Given the description of an element on the screen output the (x, y) to click on. 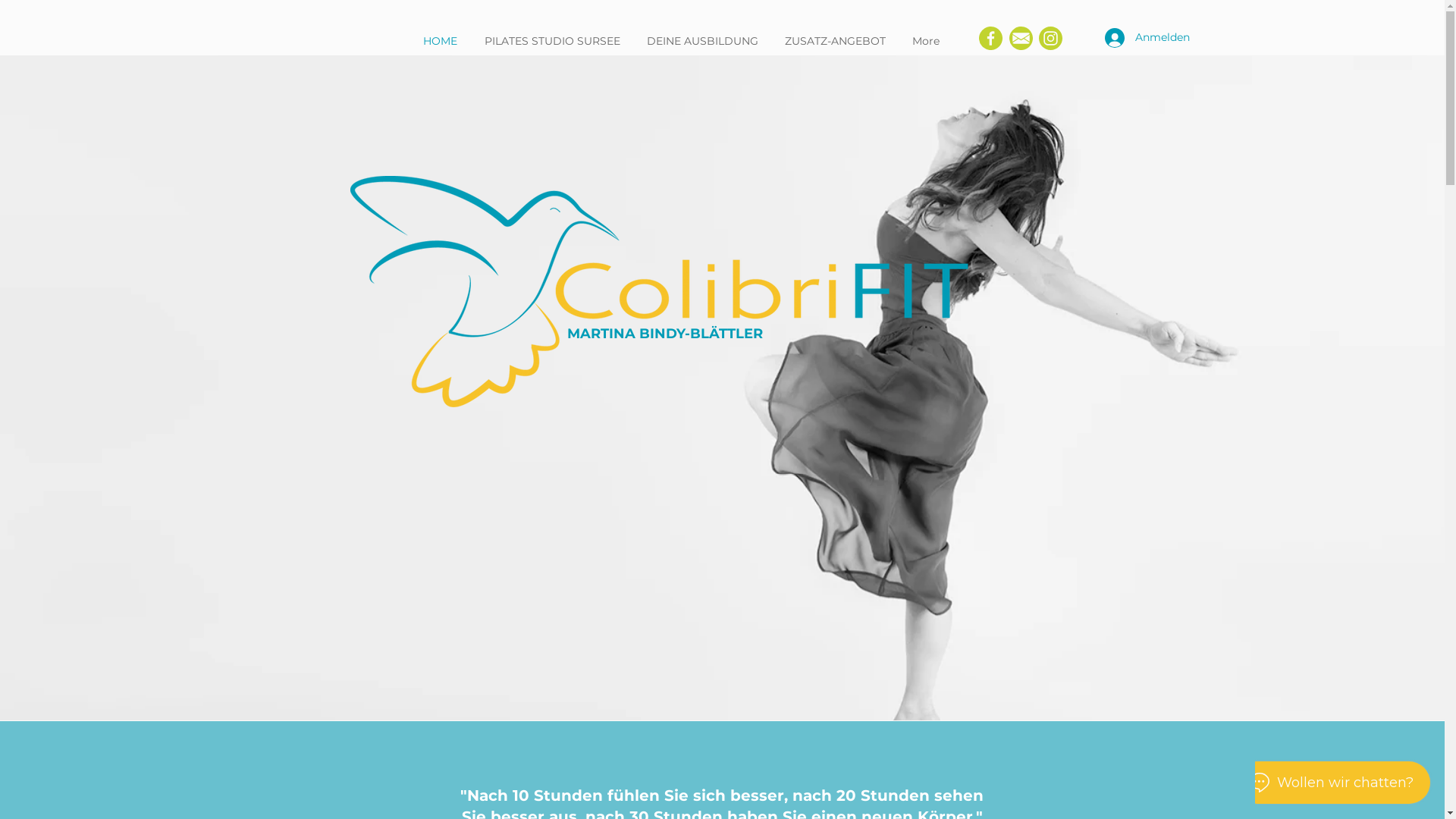
PILATES STUDIO SURSEE Element type: text (554, 41)
HOME Element type: text (441, 41)
Anmelden Element type: text (1138, 37)
DEINE AUSBILDUNG Element type: text (704, 41)
